Given the description of an element on the screen output the (x, y) to click on. 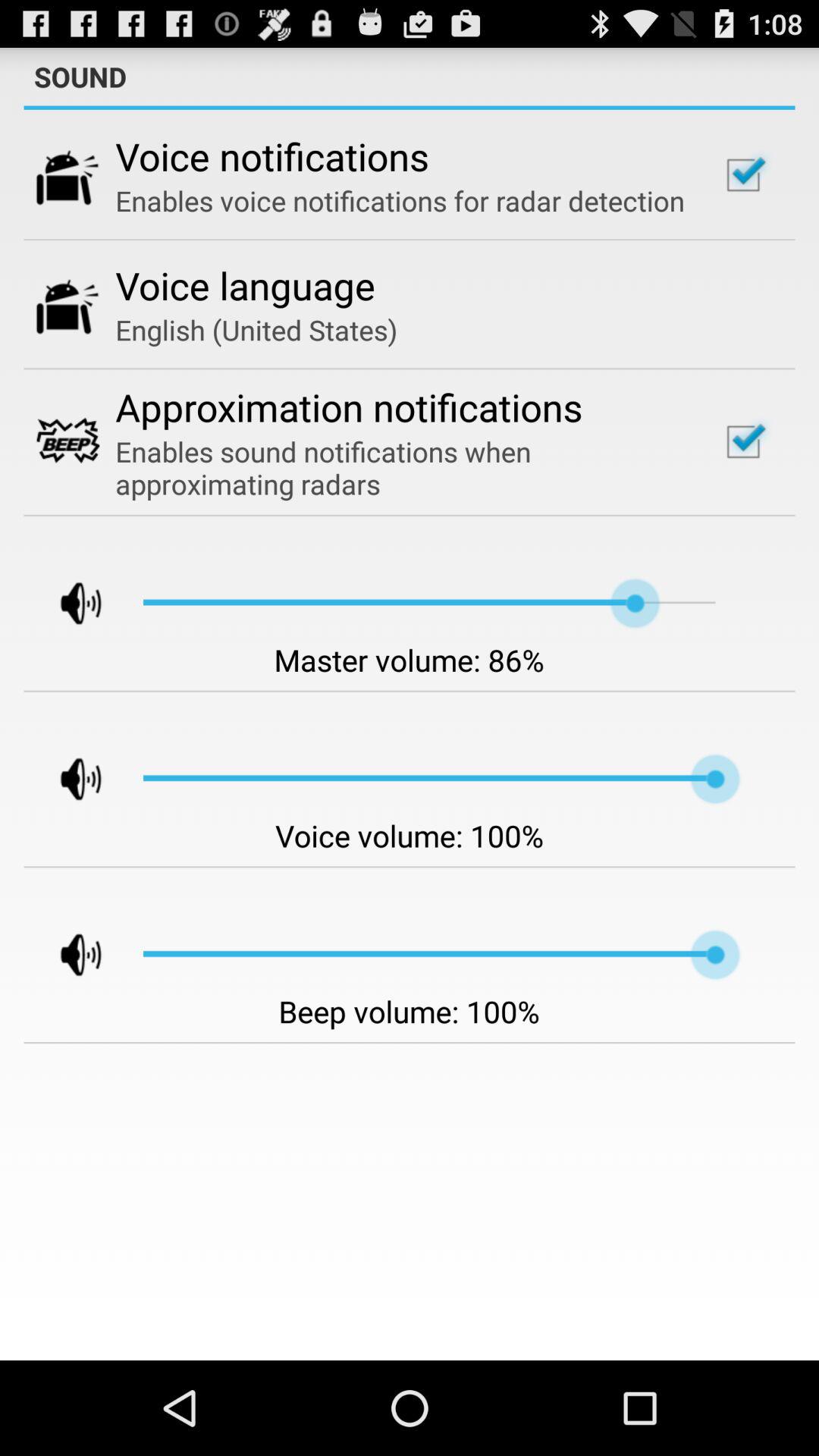
click voice language item (245, 285)
